Given the description of an element on the screen output the (x, y) to click on. 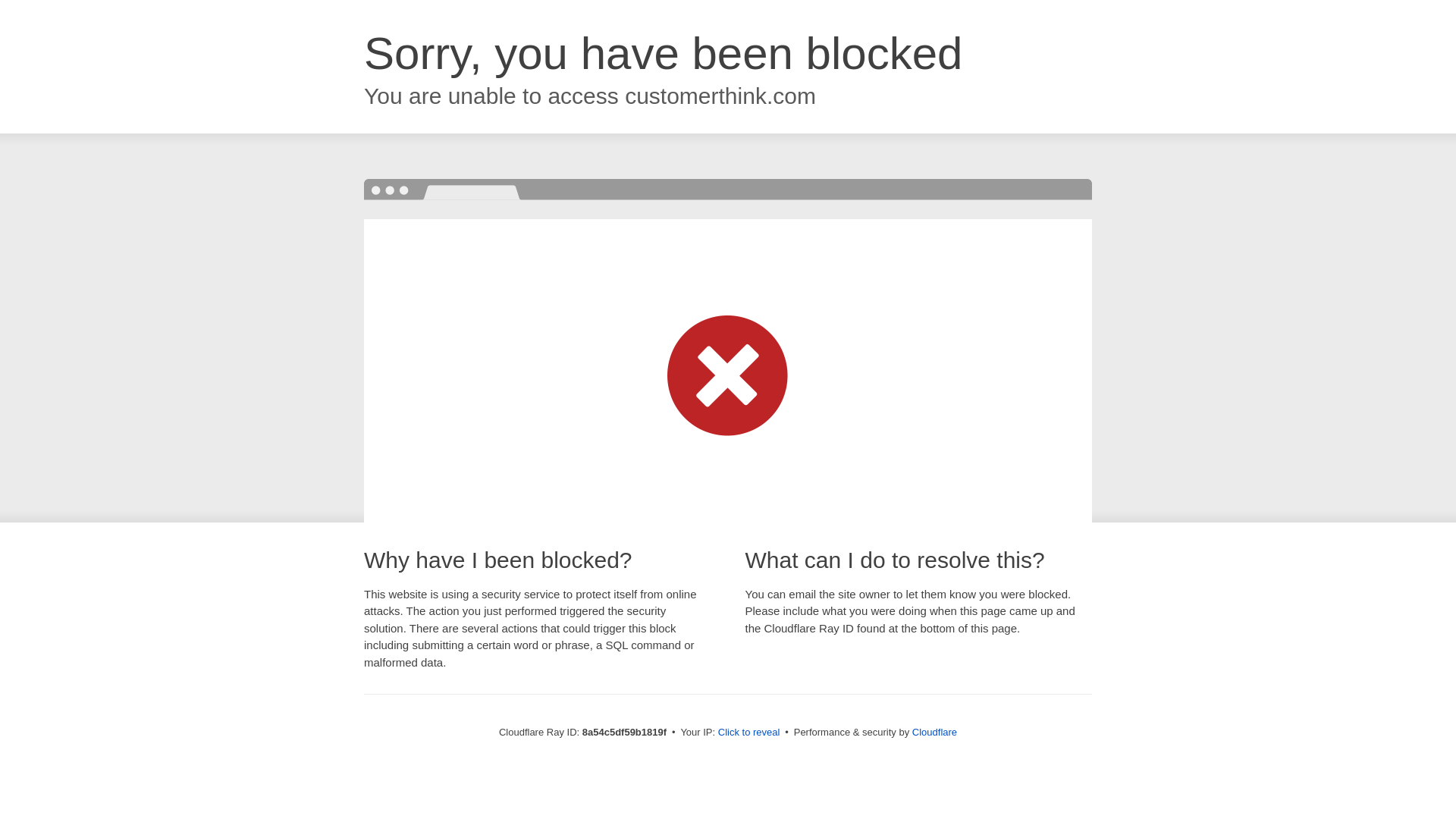
Click to reveal (748, 732)
Cloudflare (934, 731)
